Given the description of an element on the screen output the (x, y) to click on. 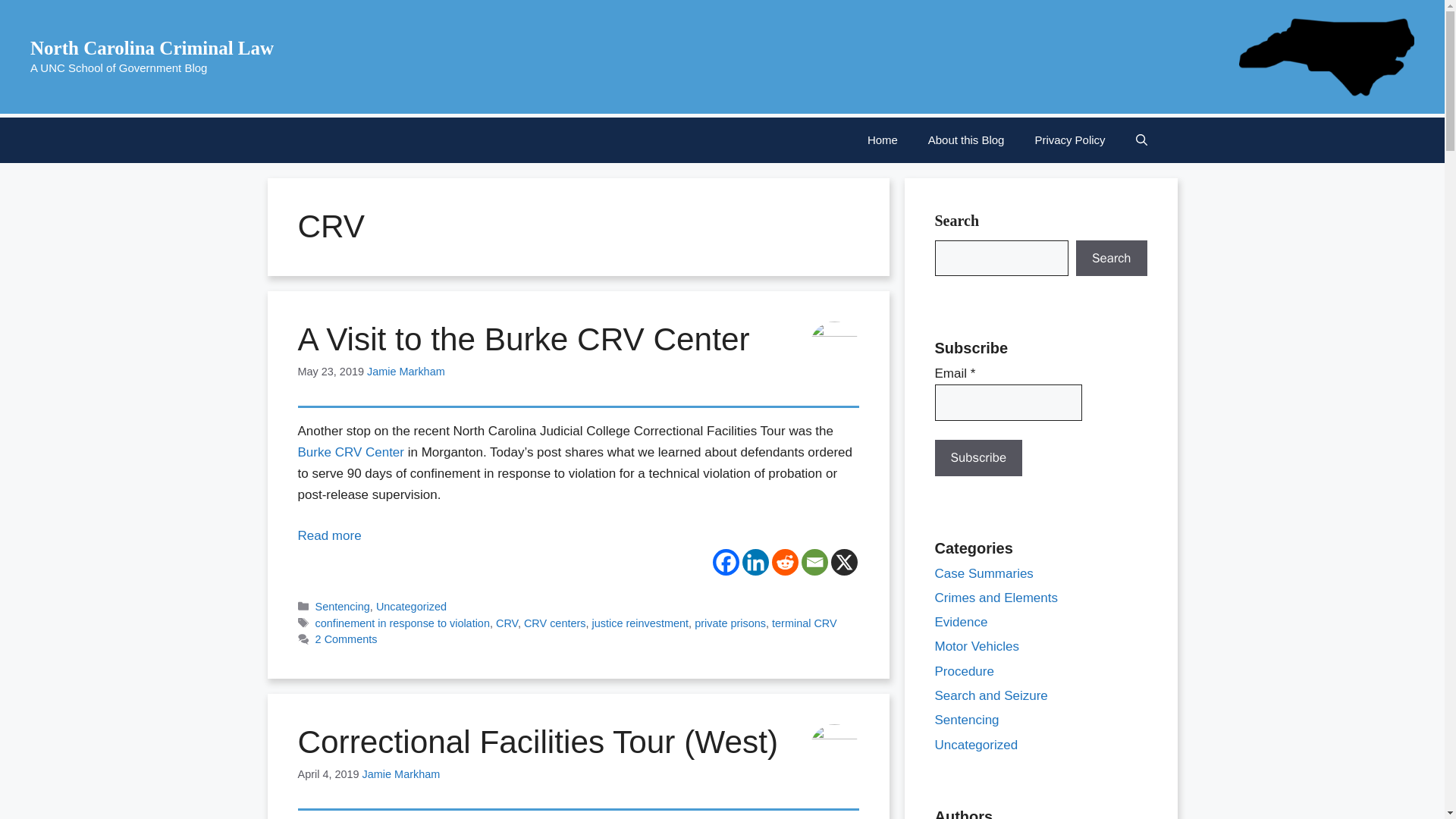
CRV (507, 623)
Facebook (726, 561)
Burke CRV Center (350, 452)
Read more (329, 535)
A Visit to the Burke CRV Center (523, 339)
Posts by Jamie Markham (401, 774)
North Carolina Criminal Law (151, 47)
Privacy Policy (1069, 139)
Posts by Jamie Markham (405, 371)
confinement in response to violation (402, 623)
Jamie Markham (401, 774)
Email (813, 561)
Sentencing (342, 606)
Subscribe (978, 457)
Home (881, 139)
